Given the description of an element on the screen output the (x, y) to click on. 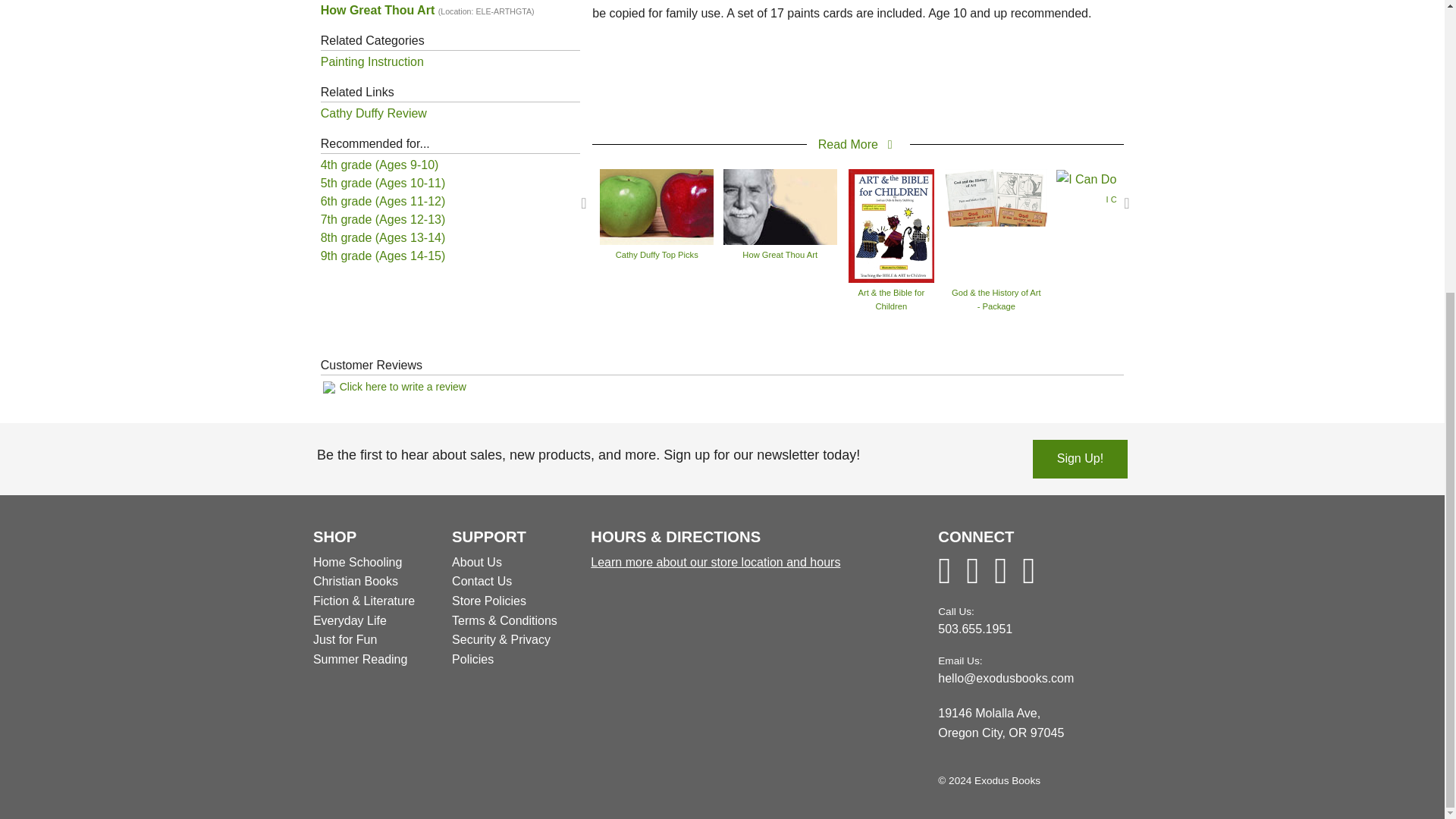
I Can Do All Things - 4 DVD Set (1148, 178)
How Great Thou Art (780, 205)
Cathy Duffy Top Picks (656, 205)
